Given the description of an element on the screen output the (x, y) to click on. 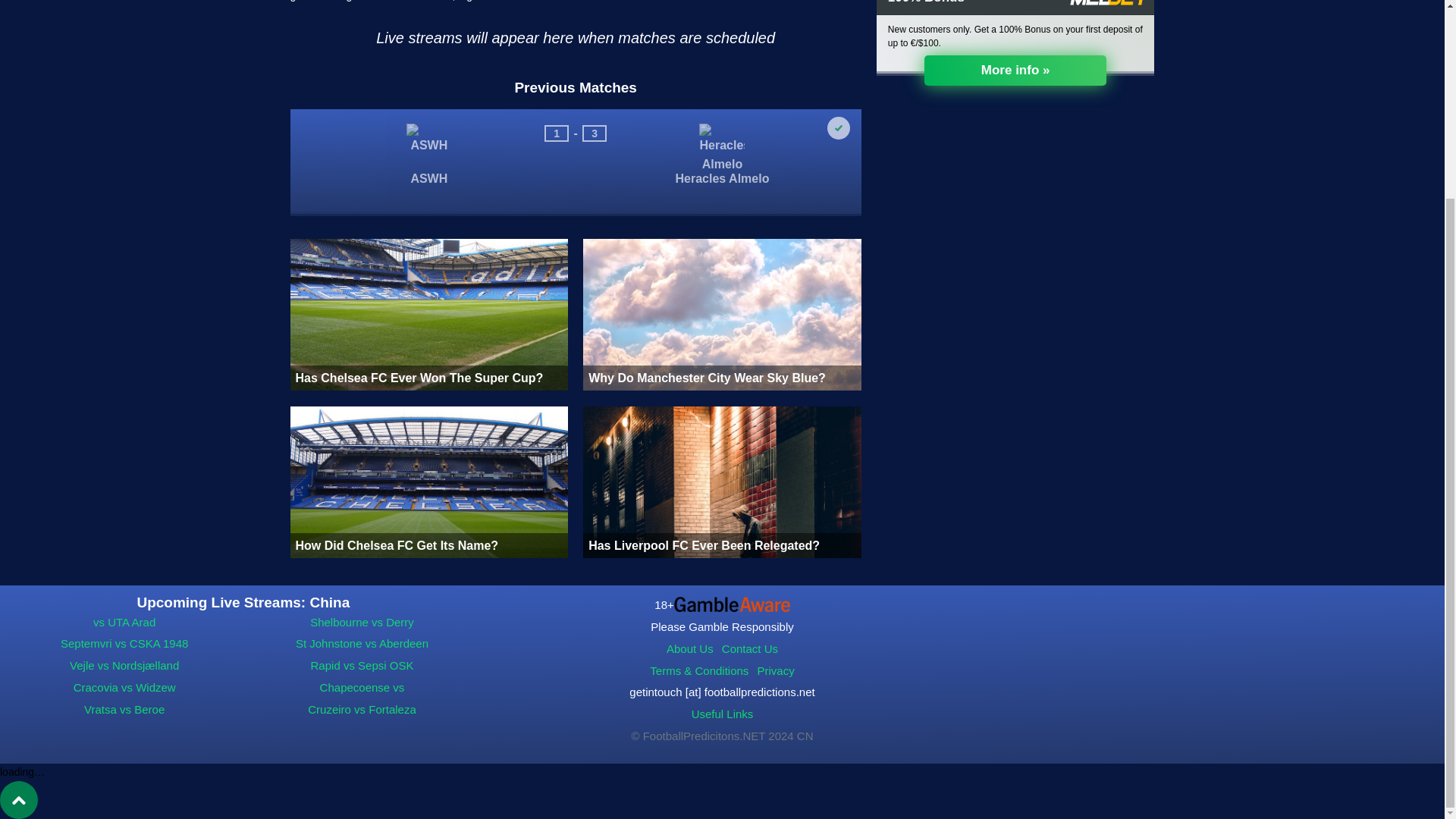
ASWH (428, 197)
Why Do Manchester City Wear Sky Blue? (722, 314)
Has Chelsea FC Ever Won The Super Cup? (428, 314)
Heracles Almelo (722, 193)
How Did Chelsea FC Get Its Name? (428, 481)
Has Liverpool FC Ever Been Relegated? (722, 481)
